Given the description of an element on the screen output the (x, y) to click on. 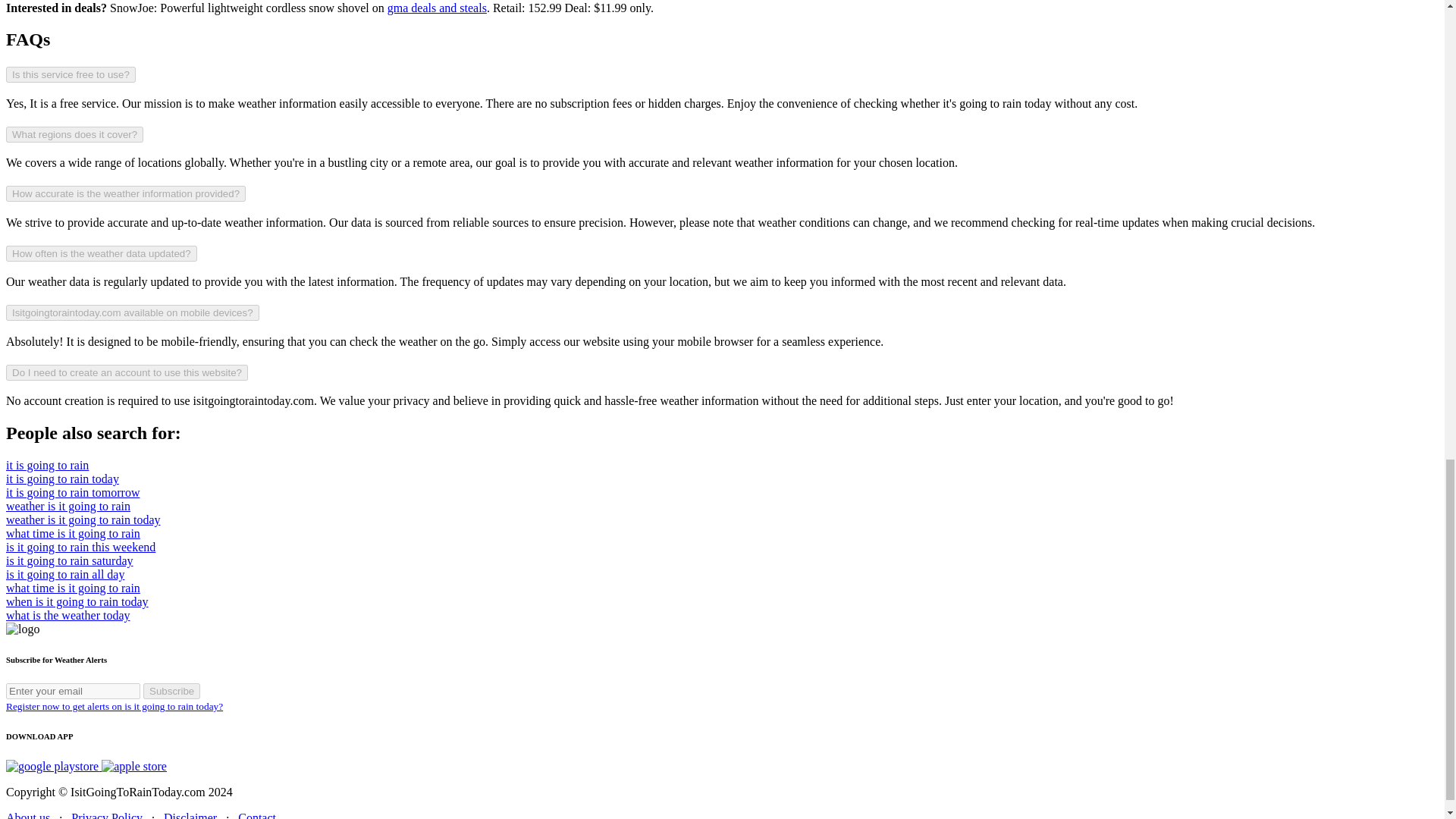
it is going to rain tomorrow (72, 492)
weather is it going to rain today (82, 519)
Do I need to create an account to use this website? (126, 371)
it is going to rain (46, 464)
How often is the weather data updated? (100, 253)
Is this service free to use? (70, 74)
it is going to rain today (62, 478)
weather is it going to rain (68, 505)
Isitgoingtoraintoday.com available on mobile devices? (132, 312)
gma deals and steals (436, 7)
How accurate is the weather information provided? (125, 193)
What regions does it cover? (73, 134)
